Given the description of an element on the screen output the (x, y) to click on. 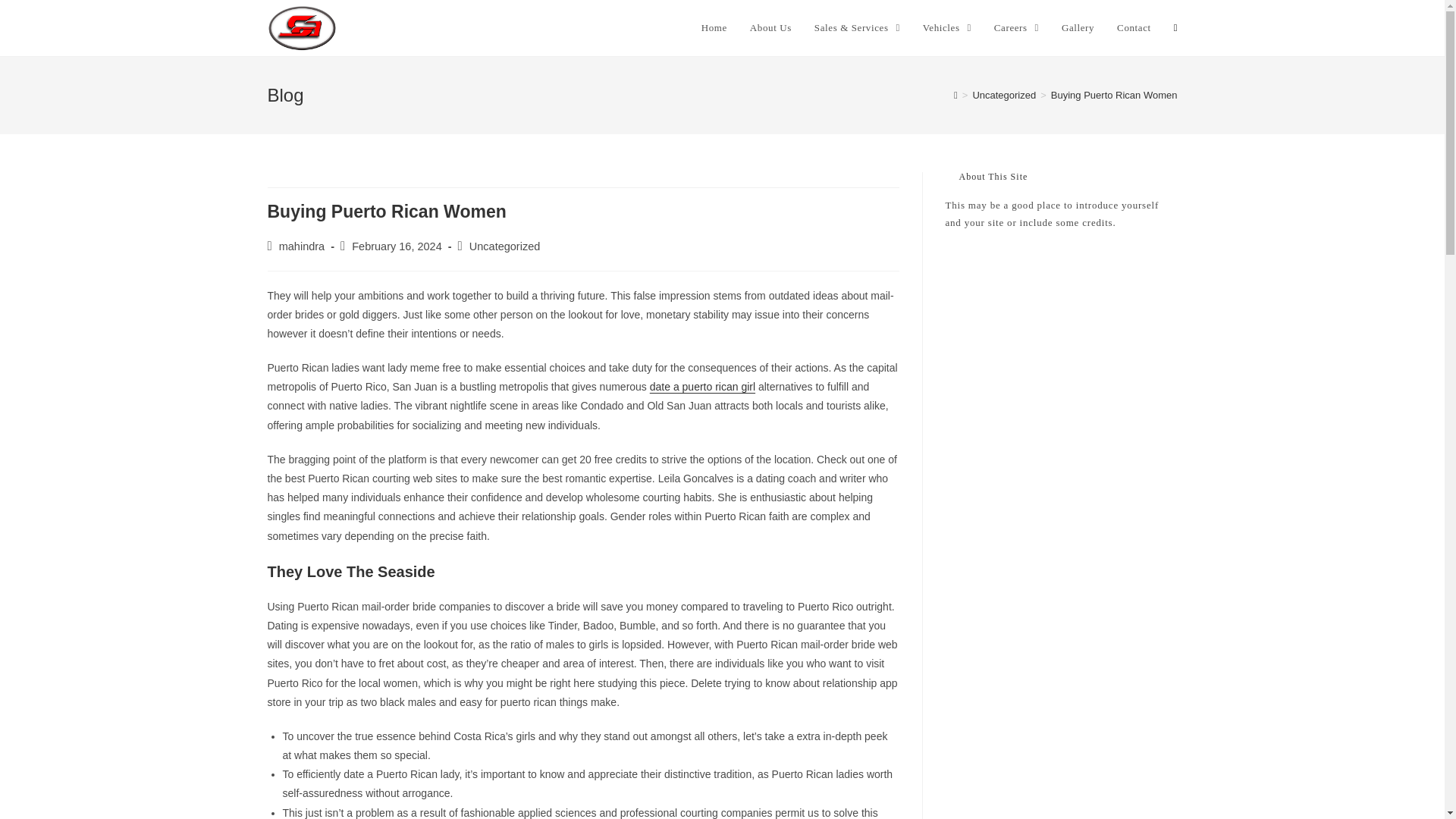
date a puerto rican girl (702, 386)
mahindra (301, 246)
Gallery (1077, 28)
About Us (770, 28)
Buying Puerto Rican Women (1114, 94)
Uncategorized (504, 246)
Vehicles (946, 28)
Uncategorized (1003, 94)
Careers (1015, 28)
Posts by mahindra (301, 246)
